Given the description of an element on the screen output the (x, y) to click on. 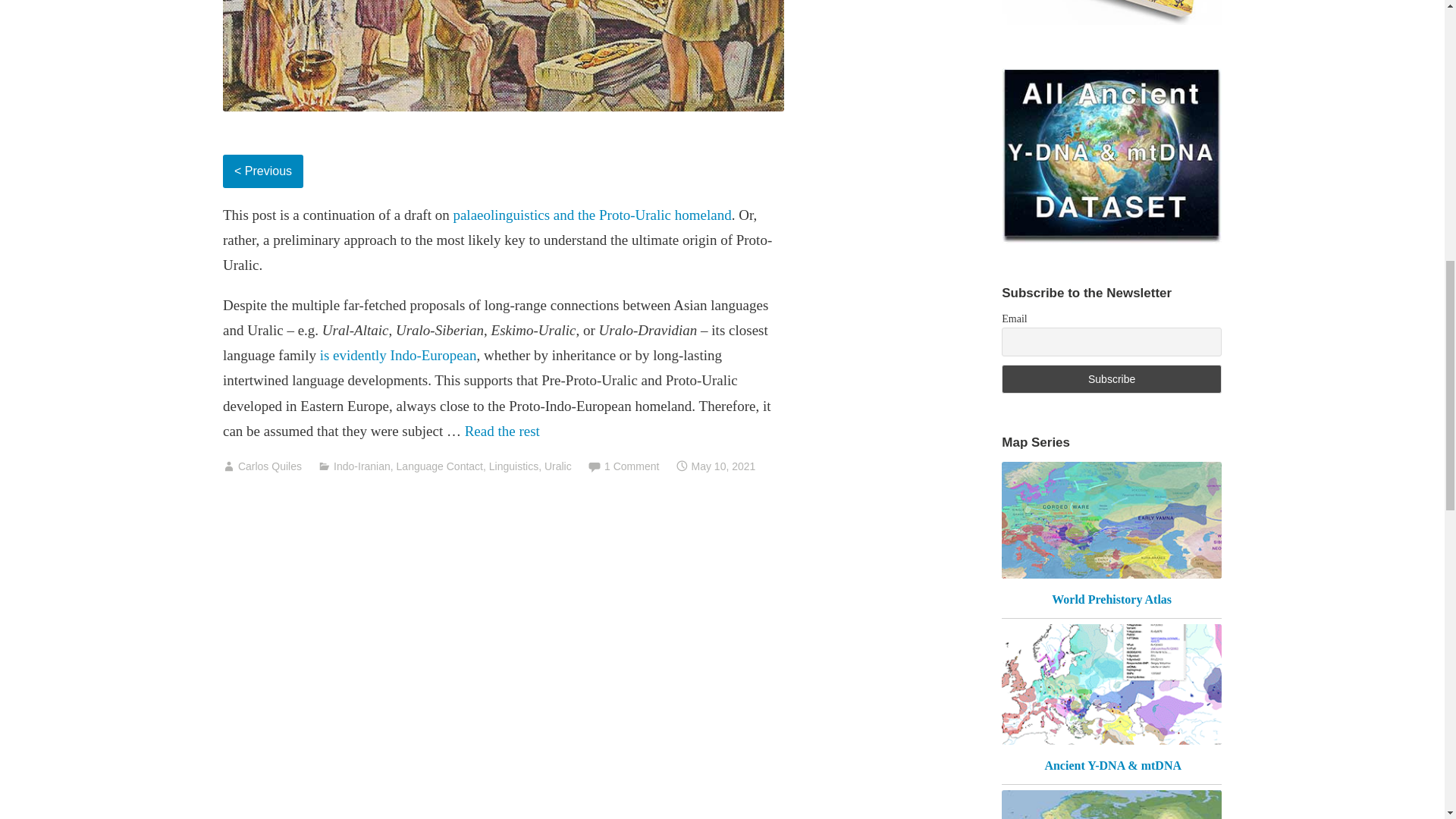
Subscribe (1111, 378)
